Given the description of an element on the screen output the (x, y) to click on. 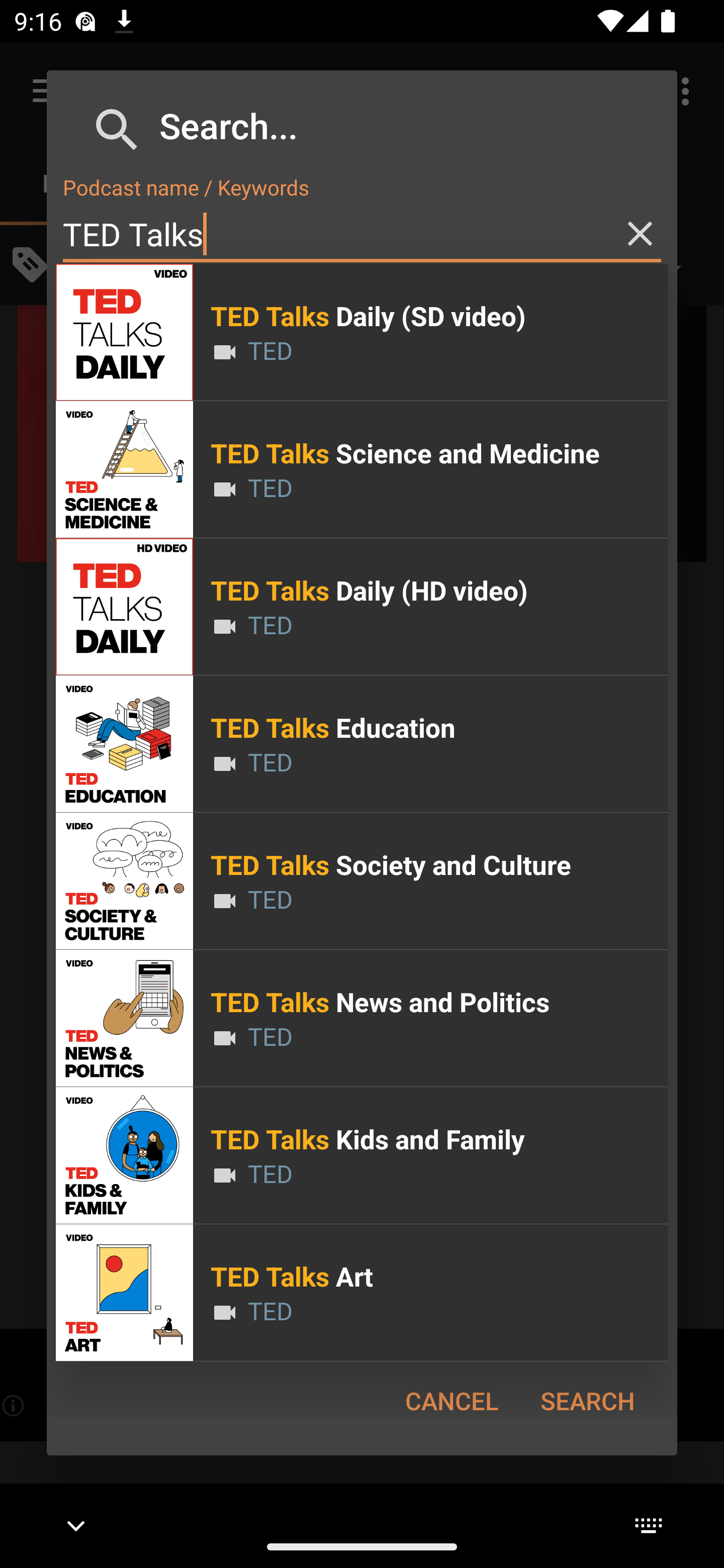
TED Talks (361, 234)
CANCEL (451, 1400)
SEARCH (587, 1400)
